Given the description of an element on the screen output the (x, y) to click on. 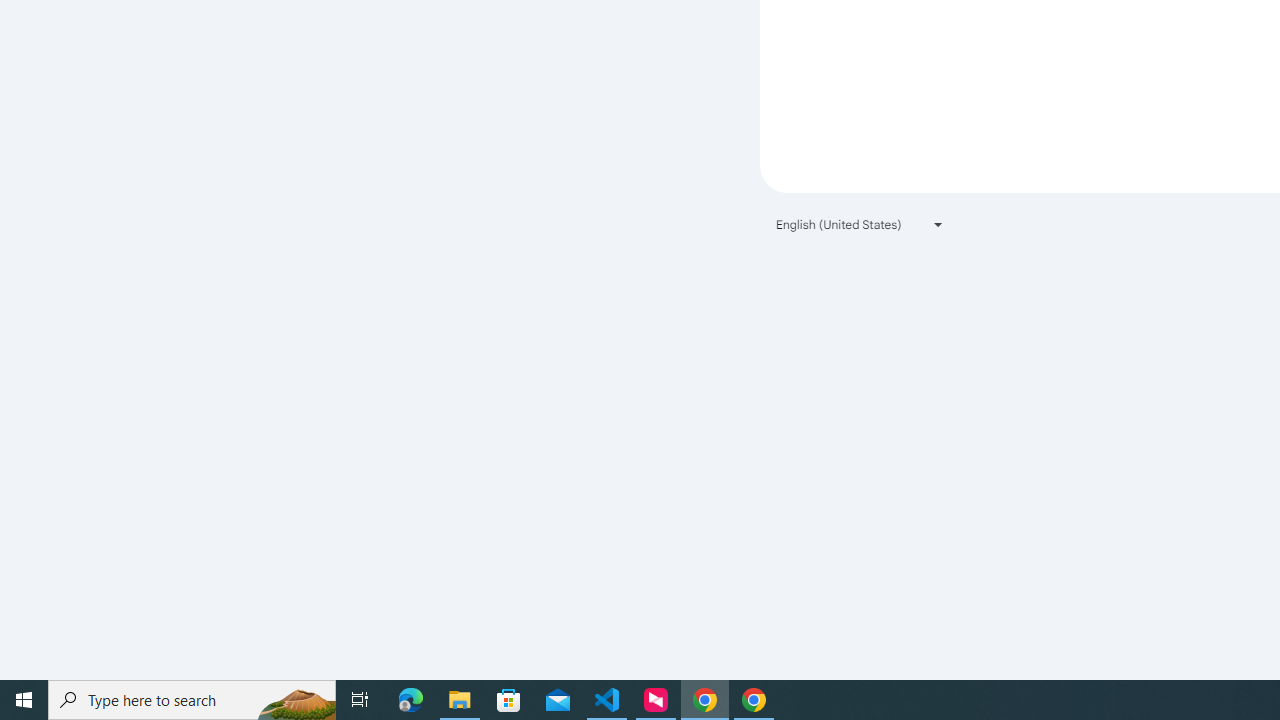
English (United States) (860, 224)
